Given the description of an element on the screen output the (x, y) to click on. 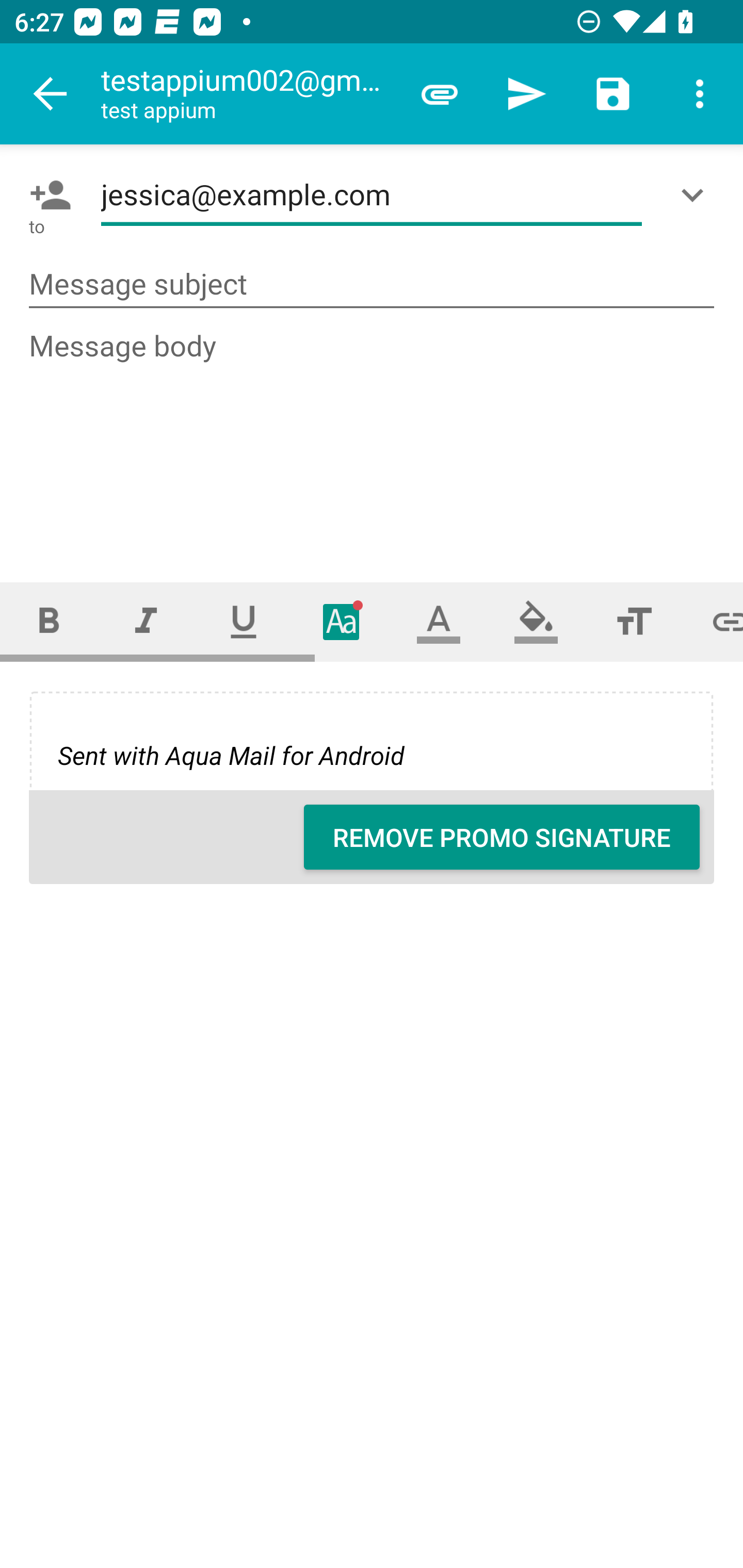
Navigate up (50, 93)
testappium002@gmail.com test appium (248, 93)
Attach (439, 93)
Send (525, 93)
Save (612, 93)
More options (699, 93)
Pick contact: To (46, 195)
Show/Add CC/BCC (696, 195)
jessica@example.com (371, 195)
Message subject (371, 284)
Message body (372, 438)
Bold (48, 621)
Italic (145, 621)
Underline (243, 621)
Typeface (font) (341, 621)
Text color (438, 621)
Fill color (536, 621)
Font size (633, 621)
REMOVE PROMO SIGNATURE (501, 837)
